Given the description of an element on the screen output the (x, y) to click on. 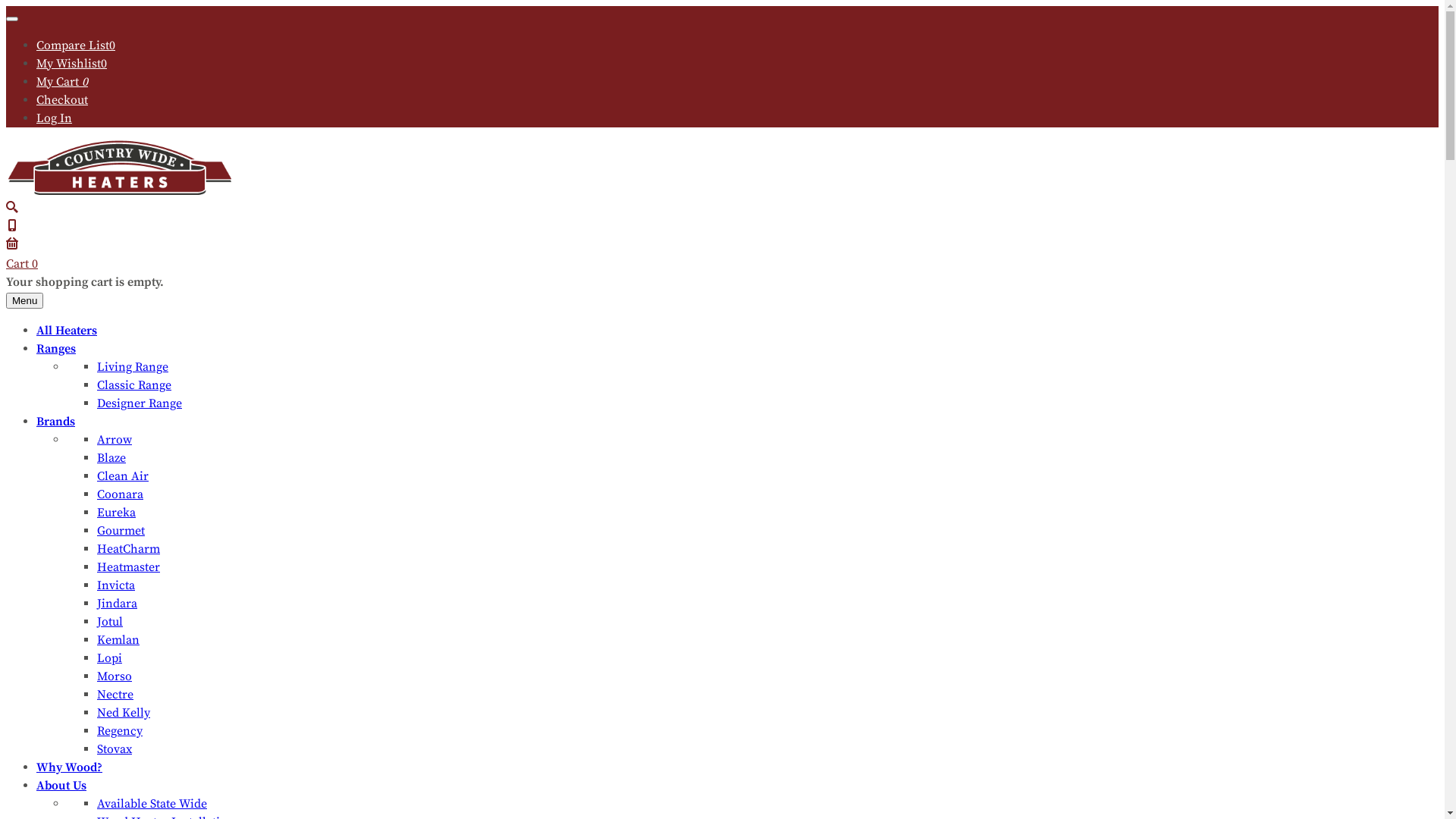
Designer Range Element type: text (139, 403)
About Us Element type: text (61, 785)
Checkout Element type: text (61, 99)
My Wishlist0 Element type: text (71, 63)
Morso Element type: text (114, 676)
Brands Element type: text (55, 421)
Eureka Element type: text (116, 512)
Living Range Element type: text (132, 366)
Ranges Element type: text (55, 348)
Gourmet Element type: text (120, 530)
Clean Air Element type: text (122, 475)
Ned Kelly Element type: text (123, 712)
Why Wood? Element type: text (69, 767)
Stovax Element type: text (114, 748)
Jindara Element type: text (117, 603)
HeatCharm Element type: text (128, 548)
Coonara Element type: text (120, 494)
Lopi Element type: text (109, 657)
Classic Range Element type: text (134, 384)
Compare List0 Element type: text (75, 45)
Arrow Element type: text (114, 439)
Invicta Element type: text (115, 585)
Jotul Element type: text (109, 621)
Available State Wide Element type: text (152, 803)
Blaze Element type: text (111, 457)
All Heaters Element type: text (66, 330)
Menu Element type: text (24, 300)
Log In Element type: text (54, 117)
Cart 0 Element type: text (722, 253)
Regency Element type: text (119, 730)
Nectre Element type: text (115, 694)
Kemlan Element type: text (118, 639)
Heatmaster Element type: text (128, 566)
My Cart 0 Element type: text (61, 81)
